Given the description of an element on the screen output the (x, y) to click on. 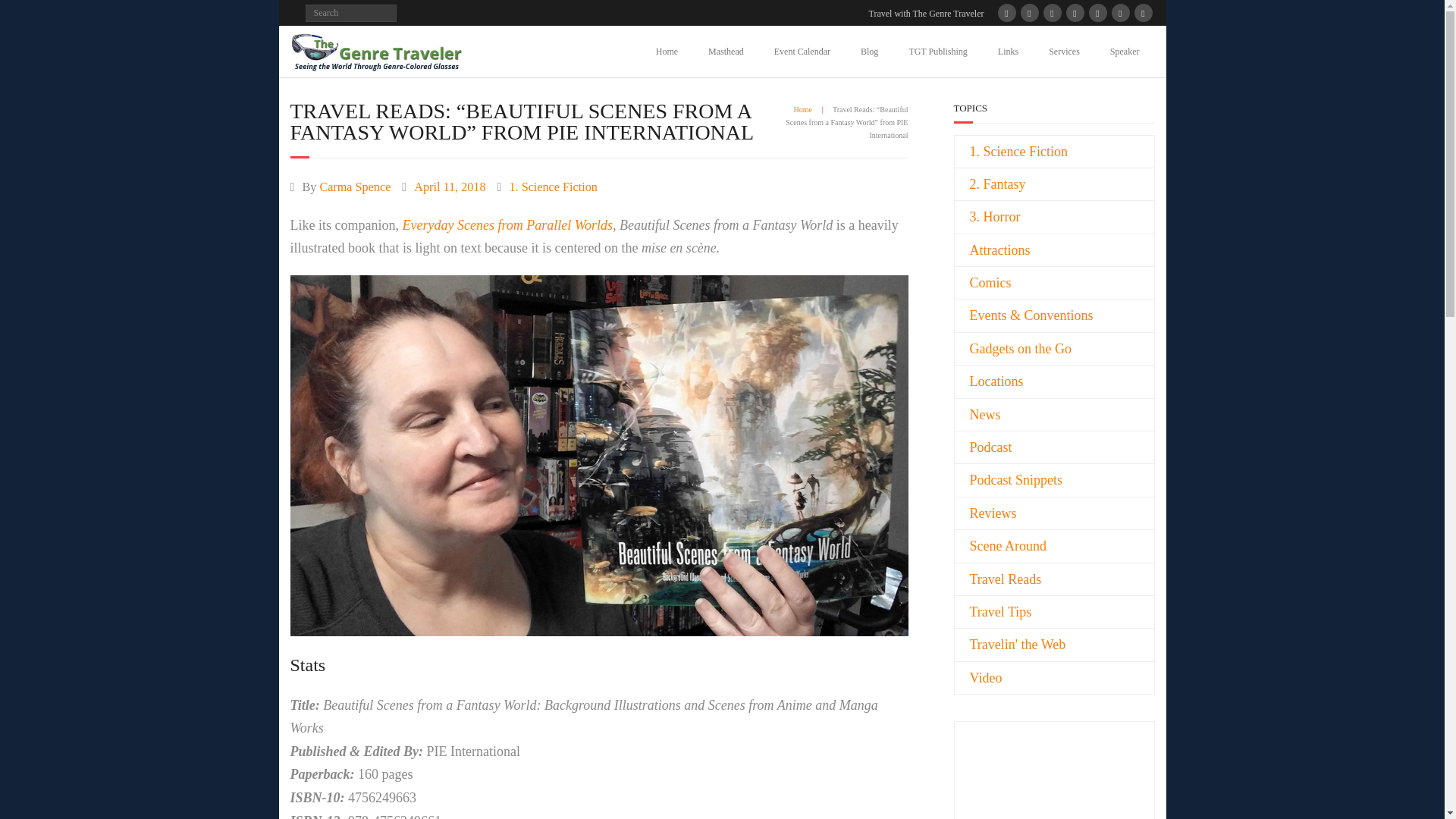
Advertisement (1014, 790)
Home (666, 50)
Blog (869, 50)
Masthead (725, 50)
Search (24, 13)
View all posts by Carma Spence (354, 187)
TGT Publishing (937, 50)
Links (1007, 50)
Event Calendar (801, 50)
